Given the description of an element on the screen output the (x, y) to click on. 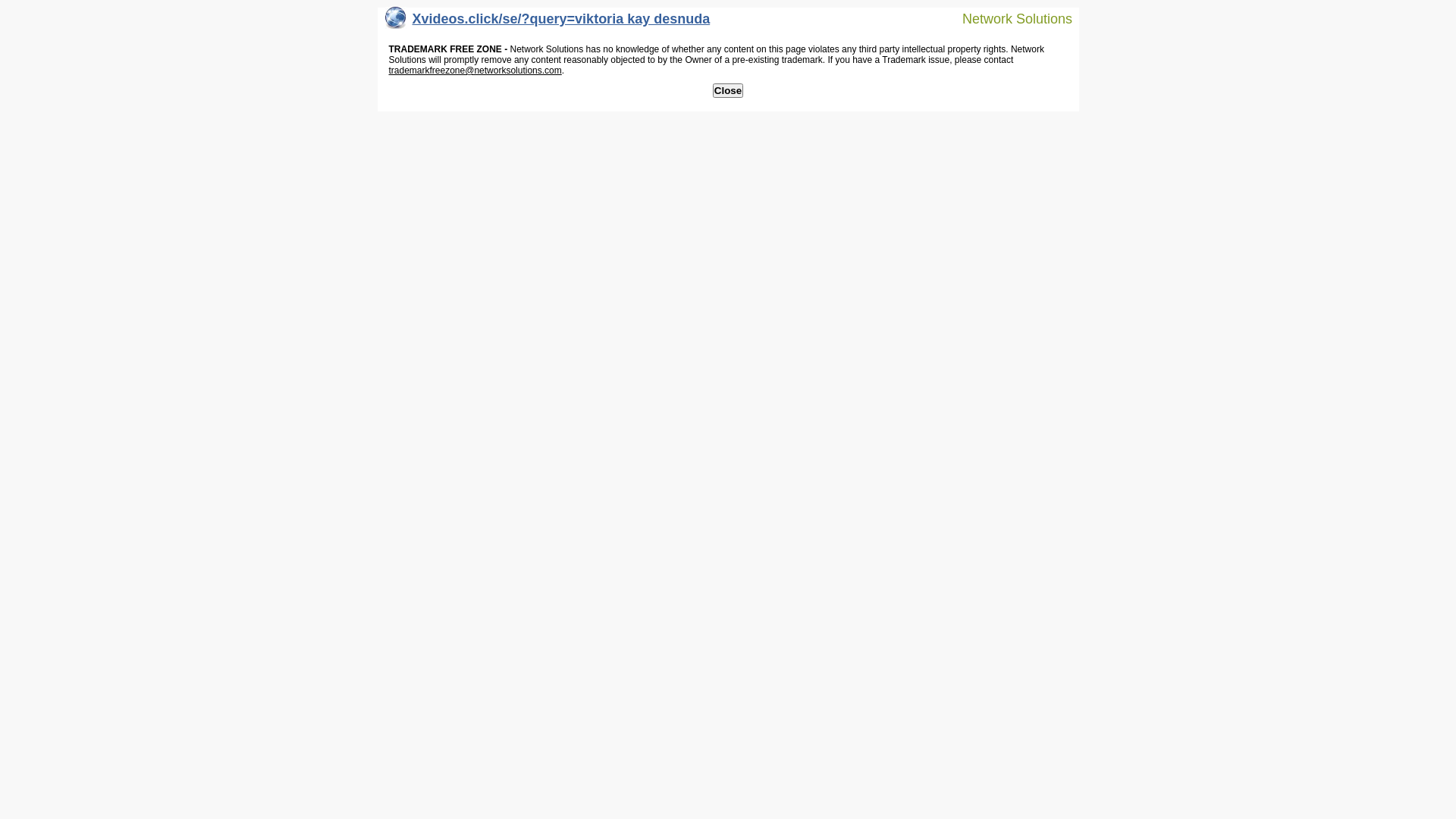
Xvideos.click/se/?query=viktoria kay desnuda Element type: text (547, 21)
Network Solutions Element type: text (1007, 17)
Close Element type: text (727, 90)
trademarkfreezone@networksolutions.com Element type: text (474, 70)
